Given the description of an element on the screen output the (x, y) to click on. 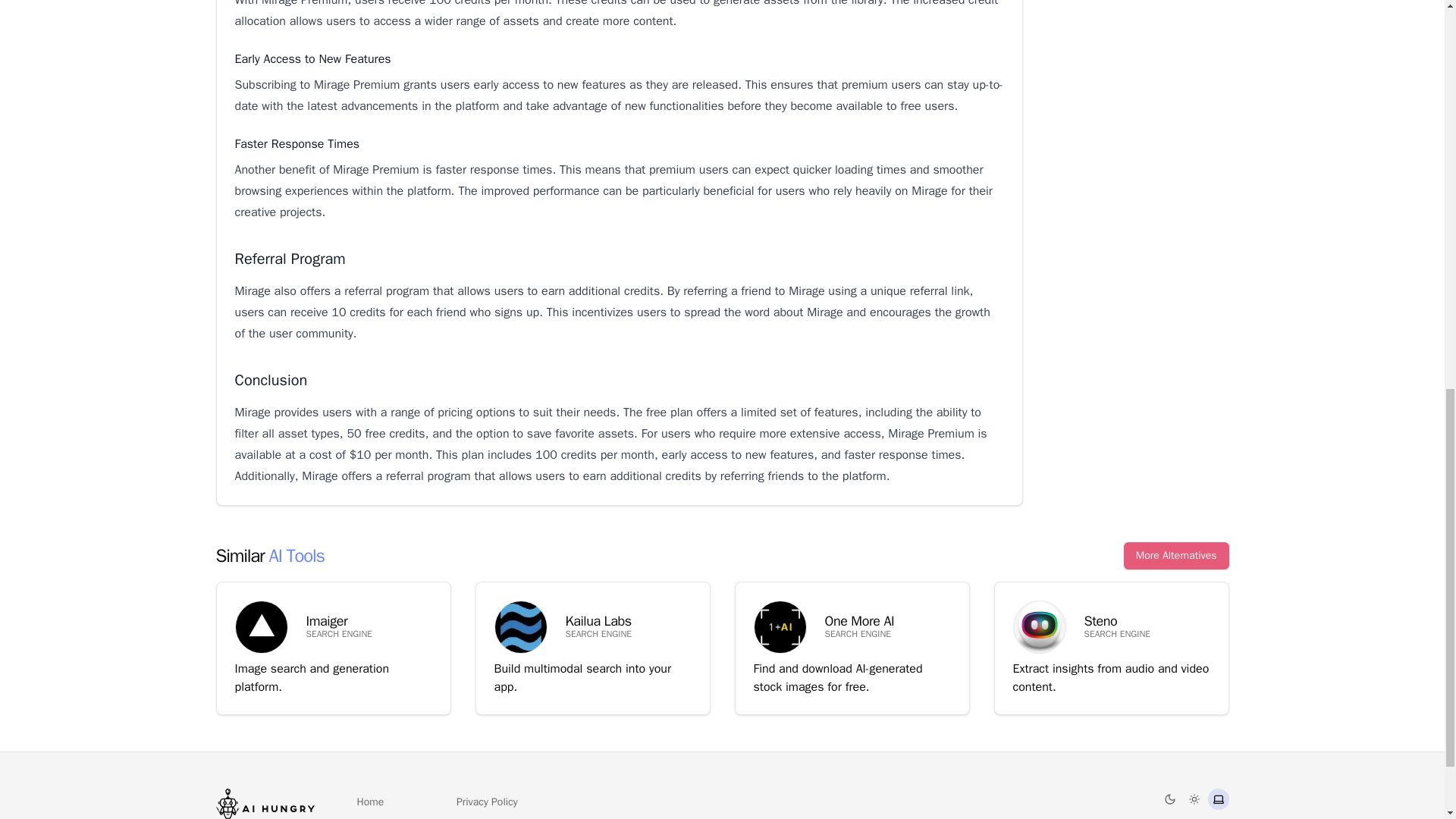
About (369, 817)
Home (370, 801)
light (1193, 799)
system (332, 647)
More Alternatives (1217, 799)
Privacy Policy (1176, 555)
dark (486, 801)
